Given the description of an element on the screen output the (x, y) to click on. 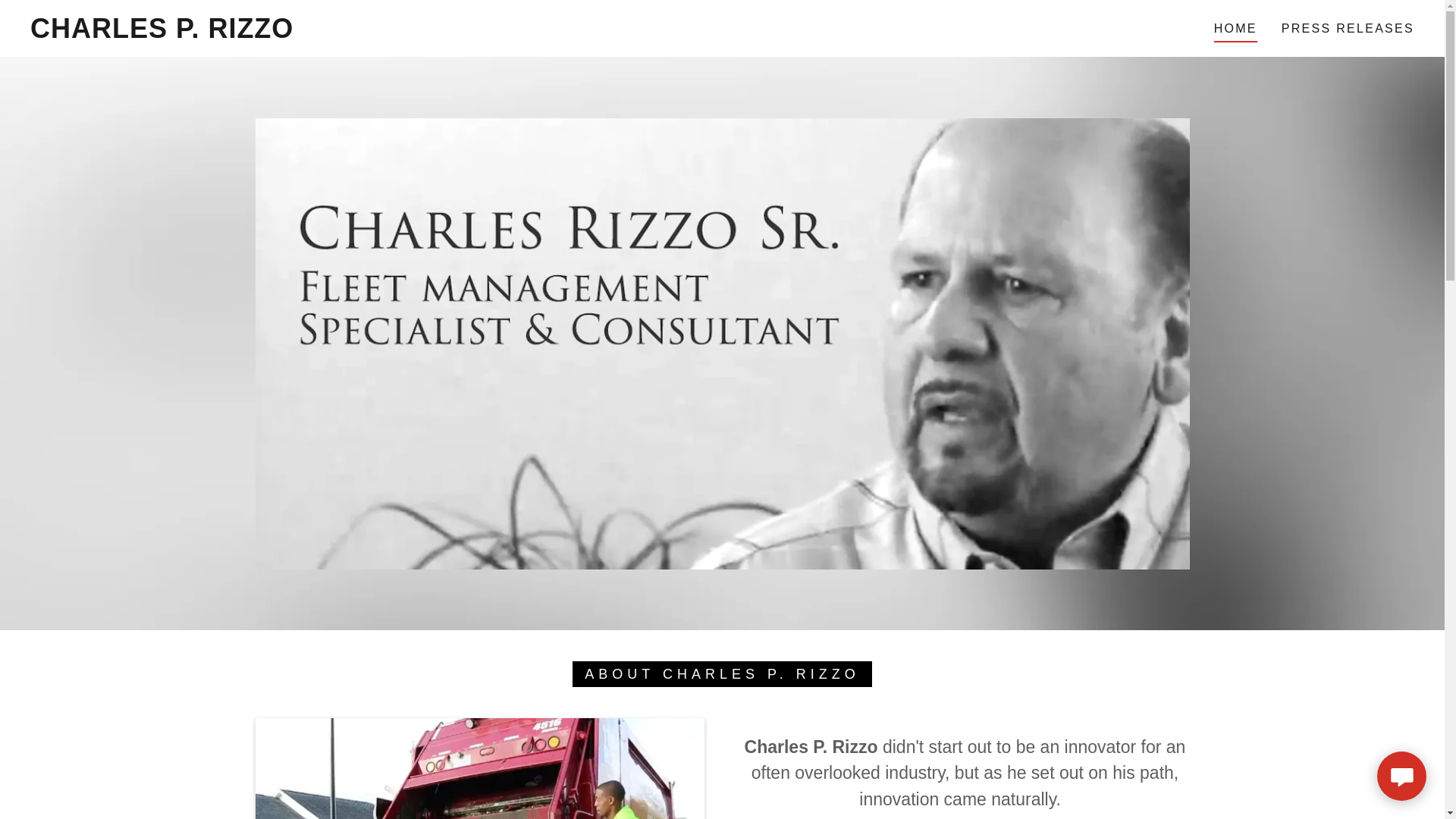
CHARLES P. RIZZO (162, 32)
PRESS RELEASES (1347, 28)
CHARLES P. RIZZO (162, 32)
HOME (1235, 30)
